Given the description of an element on the screen output the (x, y) to click on. 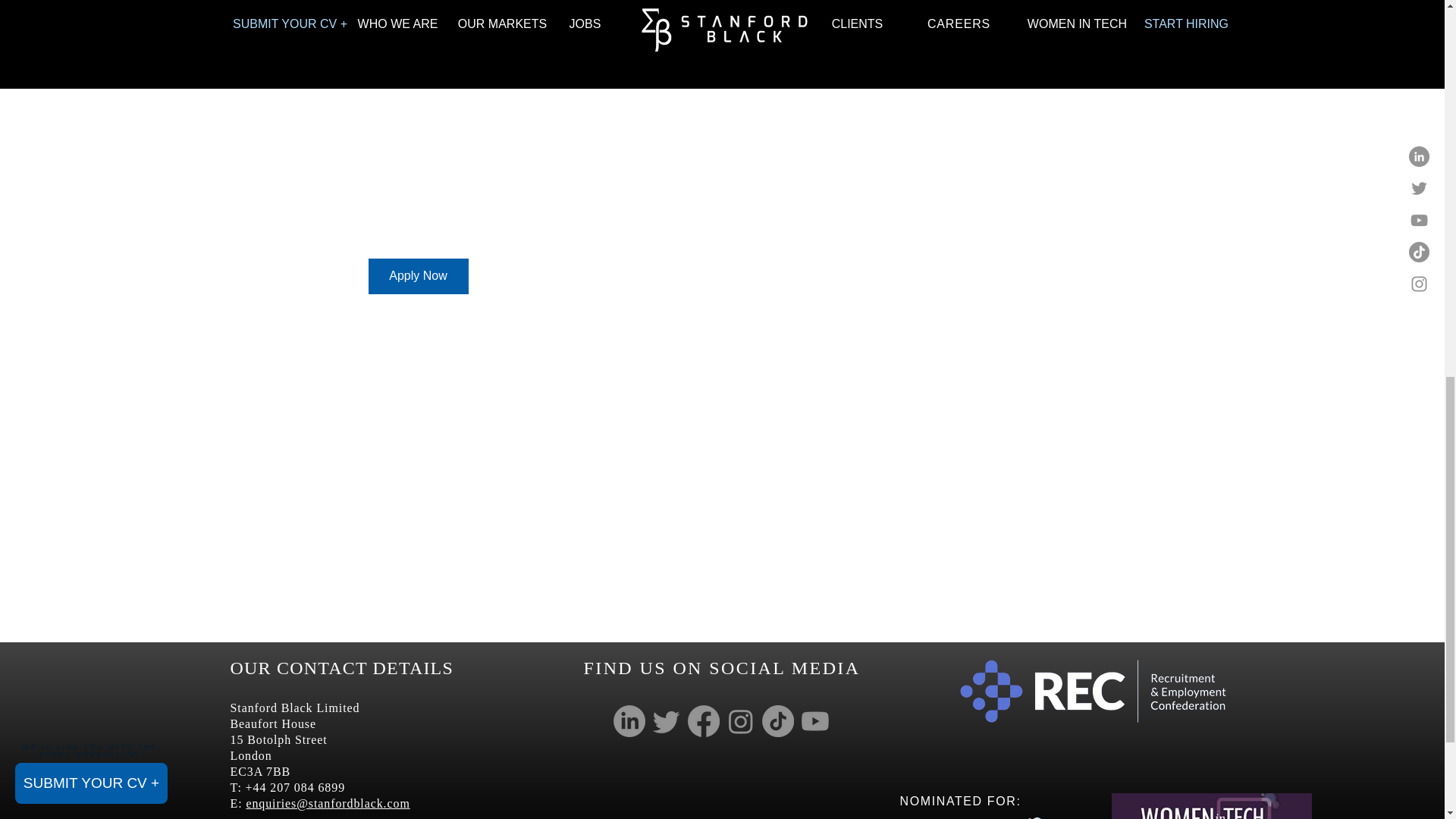
REC member website.png (1093, 691)
WIT WEBSITE Logo.png (973, 800)
Apply Now (418, 276)
WIT WEBSITE Logo.png (1211, 806)
